Given the description of an element on the screen output the (x, y) to click on. 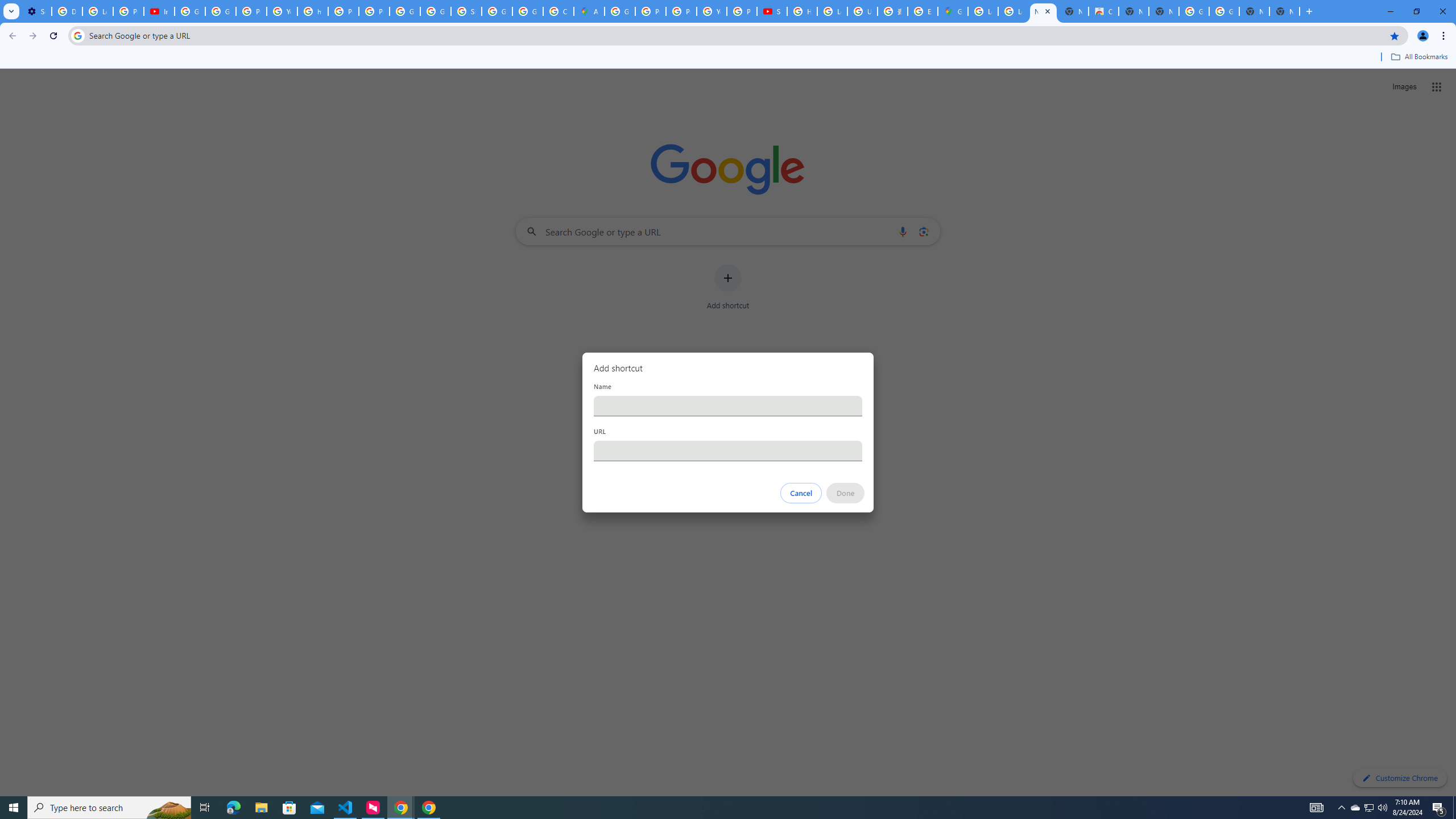
Done (845, 493)
Cancel (801, 493)
Search icon (77, 35)
Google Account Help (220, 11)
YouTube (711, 11)
https://scholar.google.com/ (312, 11)
Name (727, 405)
